Given the description of an element on the screen output the (x, y) to click on. 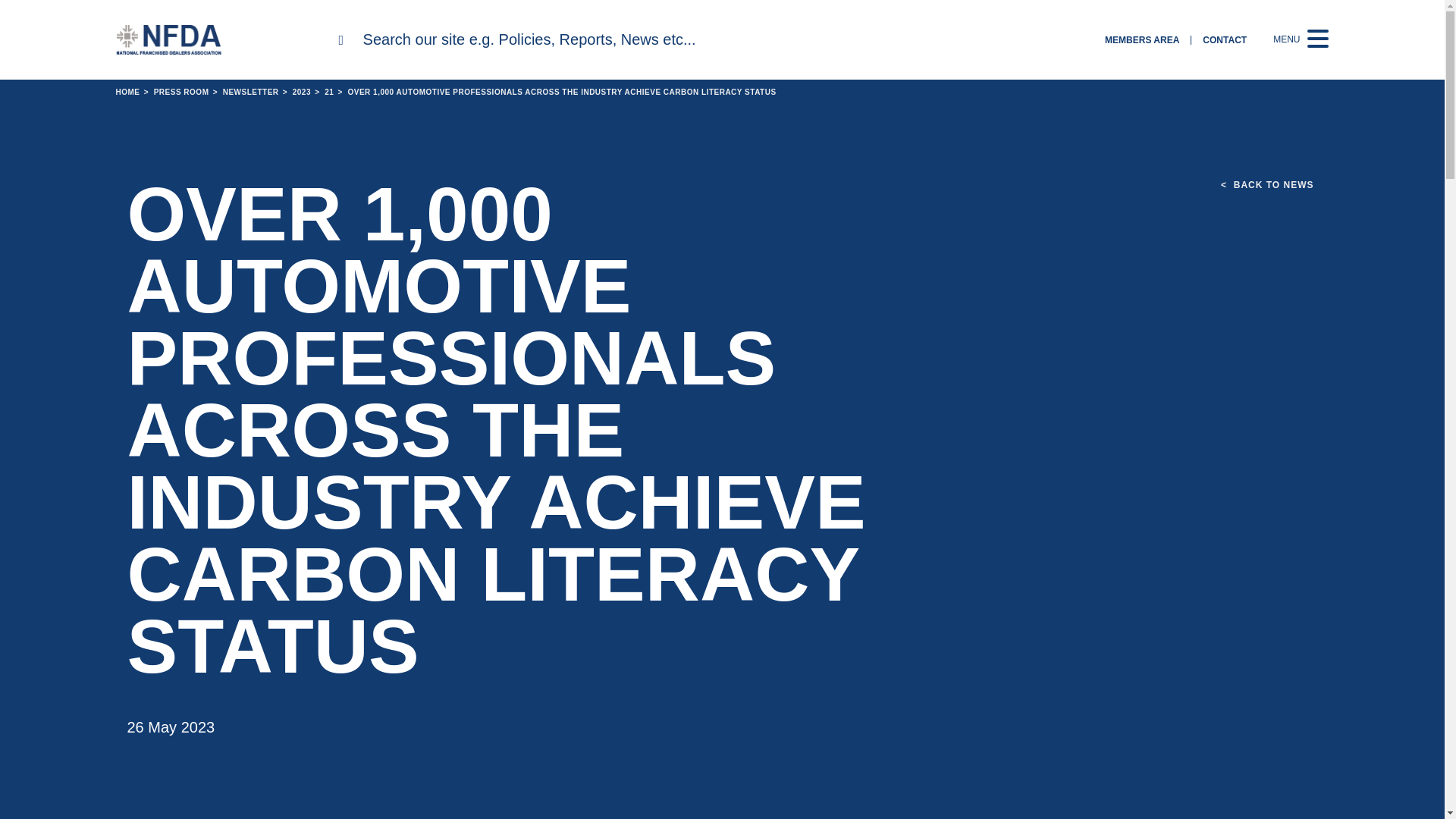
MEMBERS AREA (1142, 39)
PRESS ROOM (174, 91)
CONTACT (1224, 39)
NEWSLETTER (243, 91)
2023 (296, 91)
21 (323, 91)
BACK TO NEWS (1267, 184)
HOME (127, 91)
